Given the description of an element on the screen output the (x, y) to click on. 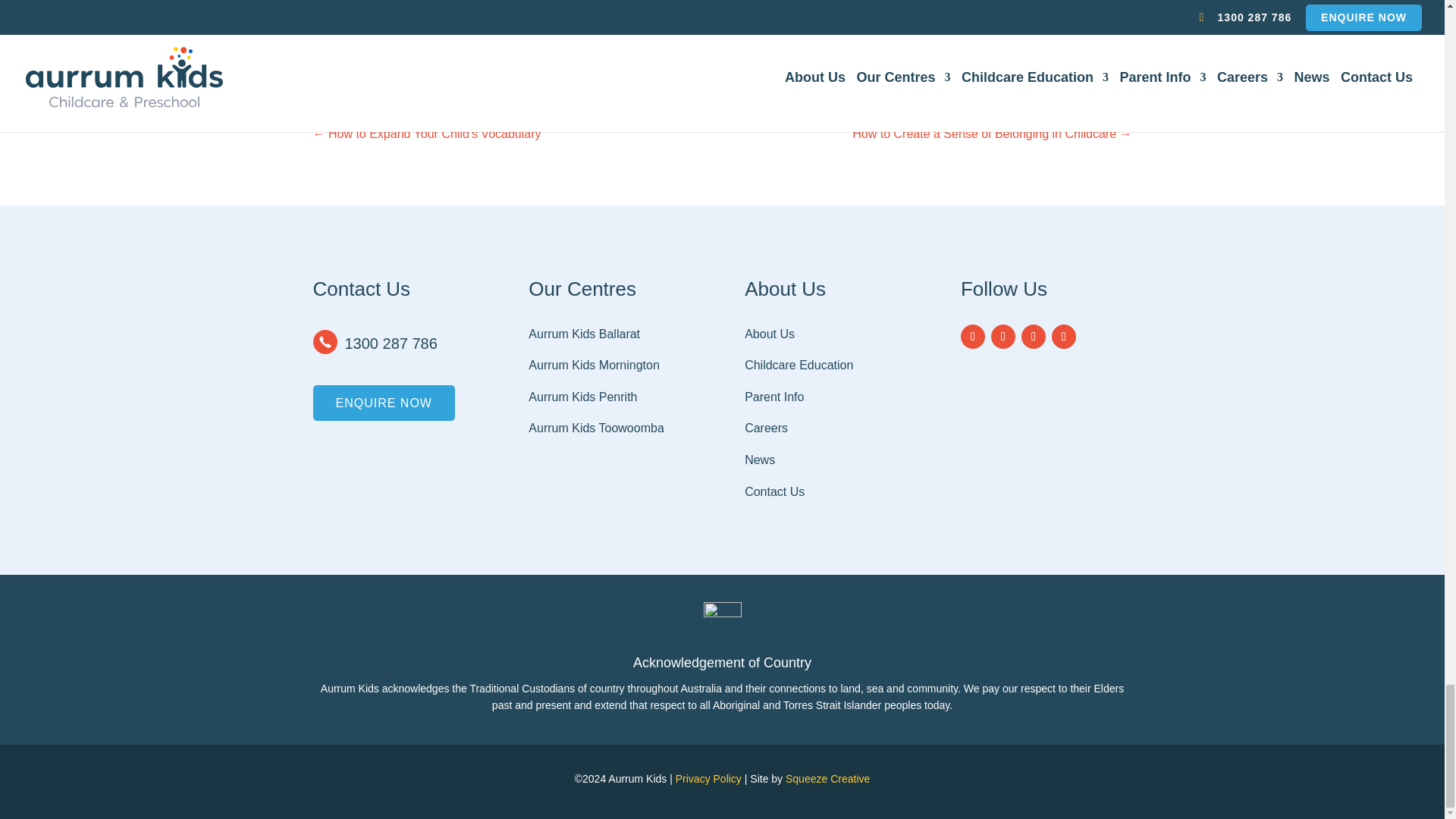
Follow on Youtube (1063, 336)
Follow on Facebook (972, 336)
Squeeze Creative (827, 778)
Follow on Instagram (1002, 336)
Follow on LinkedIn (1033, 336)
